Given the description of an element on the screen output the (x, y) to click on. 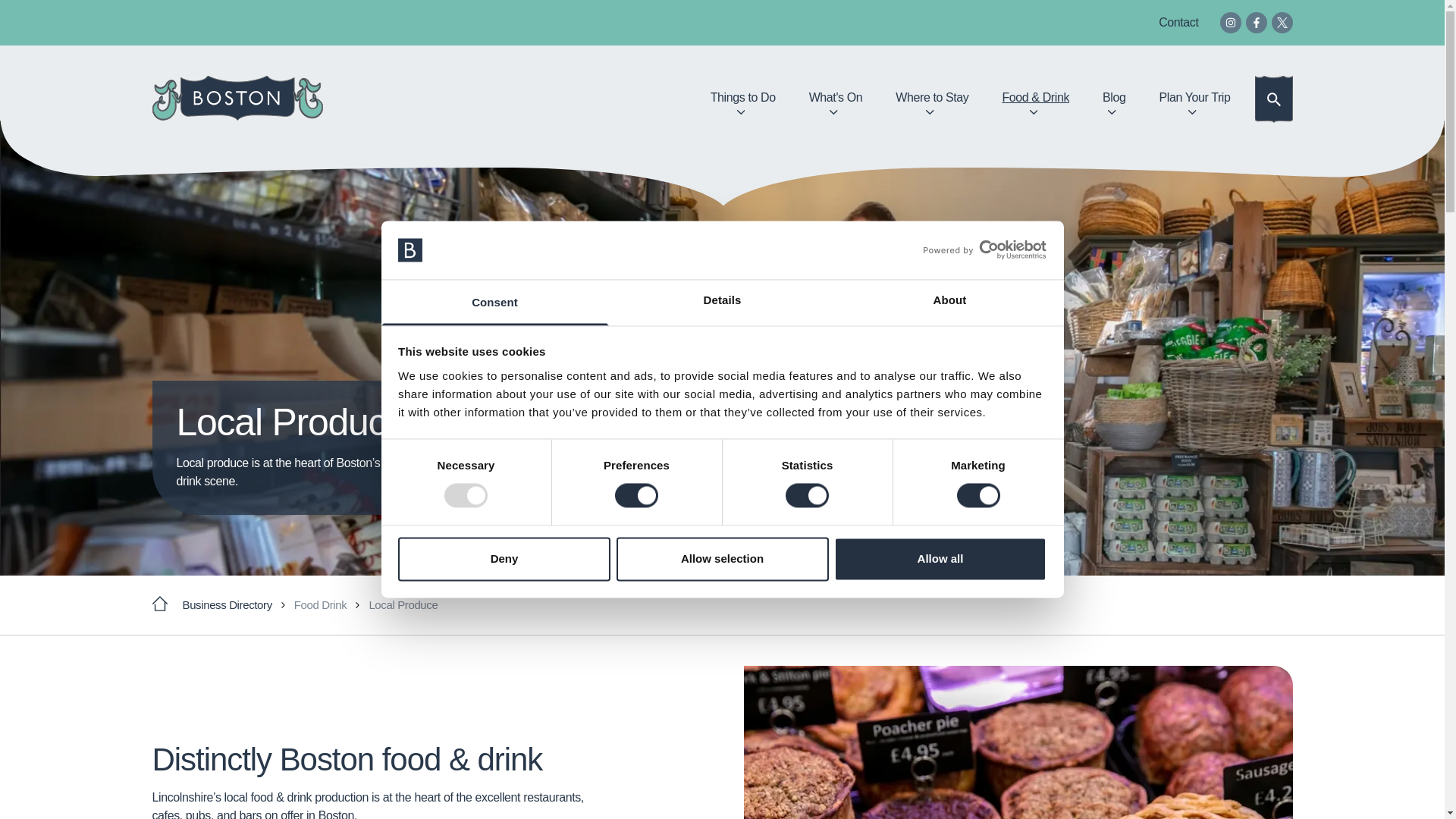
About (948, 302)
Allow selection (721, 558)
Consent (494, 302)
Allow all (940, 558)
Details (721, 302)
Deny (503, 558)
